Given the description of an element on the screen output the (x, y) to click on. 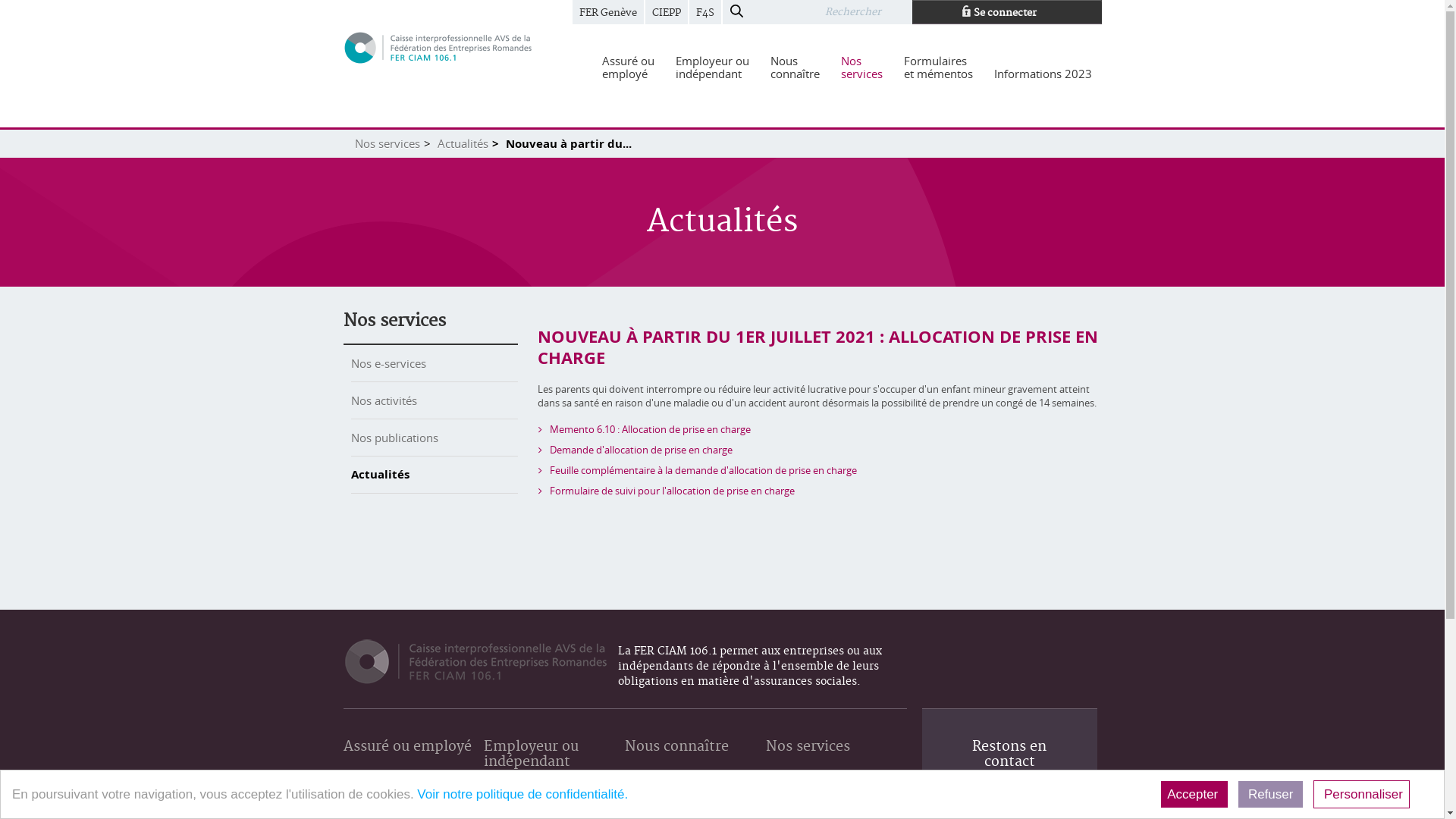
Notre histoire Element type: text (659, 809)
 CIAM AVS Element type: hover (437, 46)
Nos services Element type: text (807, 761)
Nos
services Element type: text (861, 67)
Accepter Element type: text (1194, 794)
F4S Element type: text (704, 12)
Nos publications Element type: text (393, 437)
Formulaire de suivi pour l'allocation de prise en charge Element type: text (671, 490)
Nos e-services Element type: text (387, 362)
Nos services Element type: text (393, 320)
CIEPP Element type: text (665, 12)
Refuser Element type: text (1270, 794)
Se connecter Element type: text (1006, 12)
Nos e-services Element type: text (800, 809)
Rechercher Element type: text (735, 12)
Taux de cotisation Element type: text (528, 809)
Nos services Element type: text (387, 142)
Rechercher Element type: hover (865, 11)
Personnaliser Element type: text (1361, 794)
Informations 2023 Element type: text (1043, 73)
Memento 6.10 : Allocation de prise en charge Element type: text (649, 429)
Demande d'allocation de prise en charge Element type: text (640, 449)
